Given the description of an element on the screen output the (x, y) to click on. 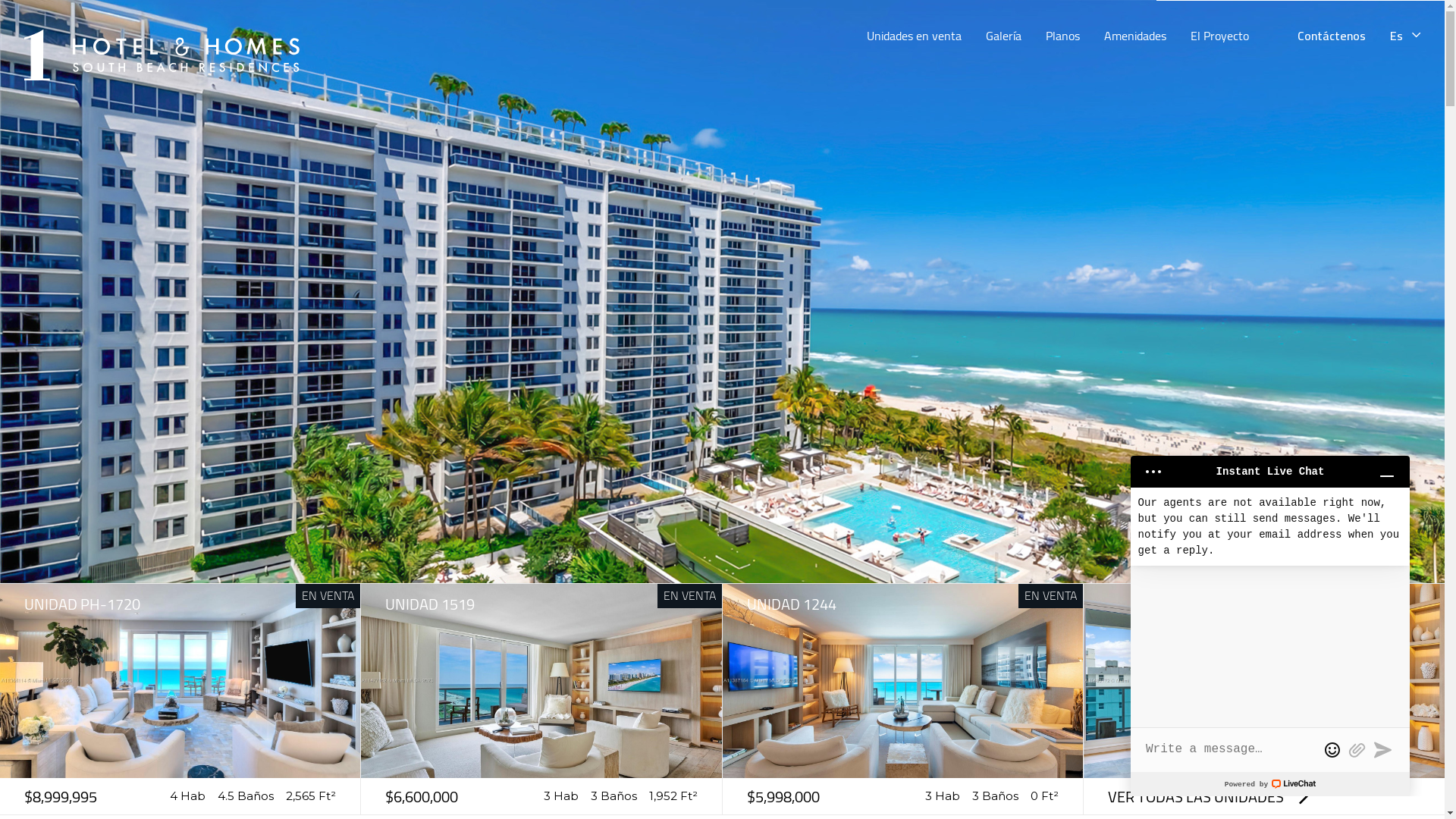
UNIDAD 1519
EN VENTA Element type: text (540, 603)
$8,999,995 Element type: text (60, 795)
Unidades en venta Element type: text (913, 35)
Es Element type: text (1405, 35)
LiveChat chat widget Element type: hover (1269, 619)
UNIDAD PH-1720
EN VENTA Element type: text (180, 603)
Amenidades Element type: text (1135, 35)
VER TODAS LAS UNIDADES Element type: text (1209, 795)
Planos Element type: text (1062, 35)
$5,998,000 Element type: text (782, 795)
$6,600,000 Element type: text (421, 795)
El Proyecto Element type: text (1219, 35)
UNIDAD 1244
EN VENTA Element type: text (901, 603)
